Given the description of an element on the screen output the (x, y) to click on. 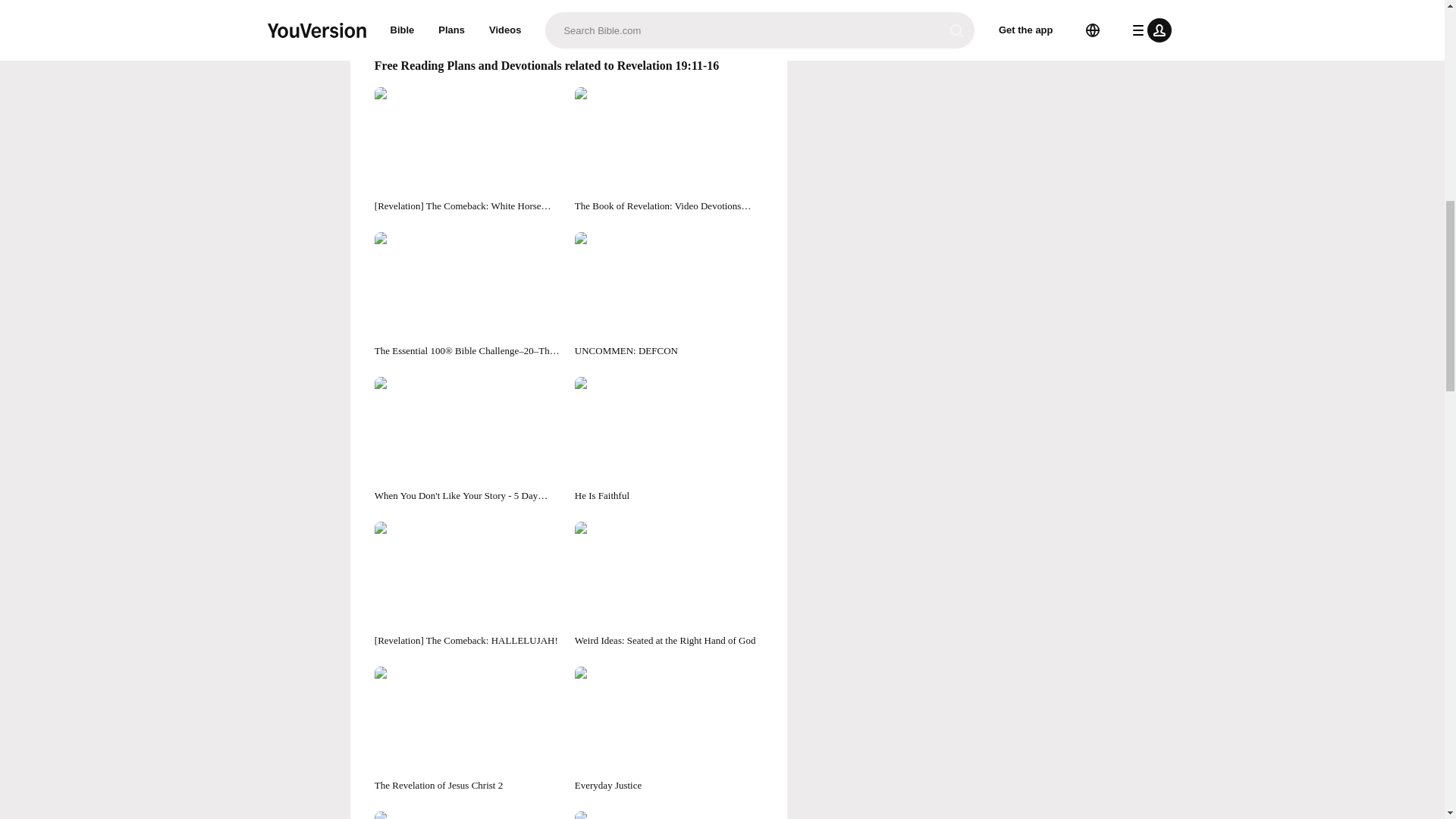
Weird Ideas: Seated at the Right Hand of God (668, 584)
UNCOMMEN: DEFCON (668, 294)
Everyday Life in Revelation Part 10: The Final Day (668, 815)
He Is Faithful (668, 439)
When You Don't Like Your Story - 5 Day Devotional (468, 439)
The Revelation of Jesus Christ 2 (468, 729)
The Book of Revelation: Video Devotions From Time Of Grace (668, 149)
What Happens Next (468, 815)
Everyday Justice (668, 729)
